Given the description of an element on the screen output the (x, y) to click on. 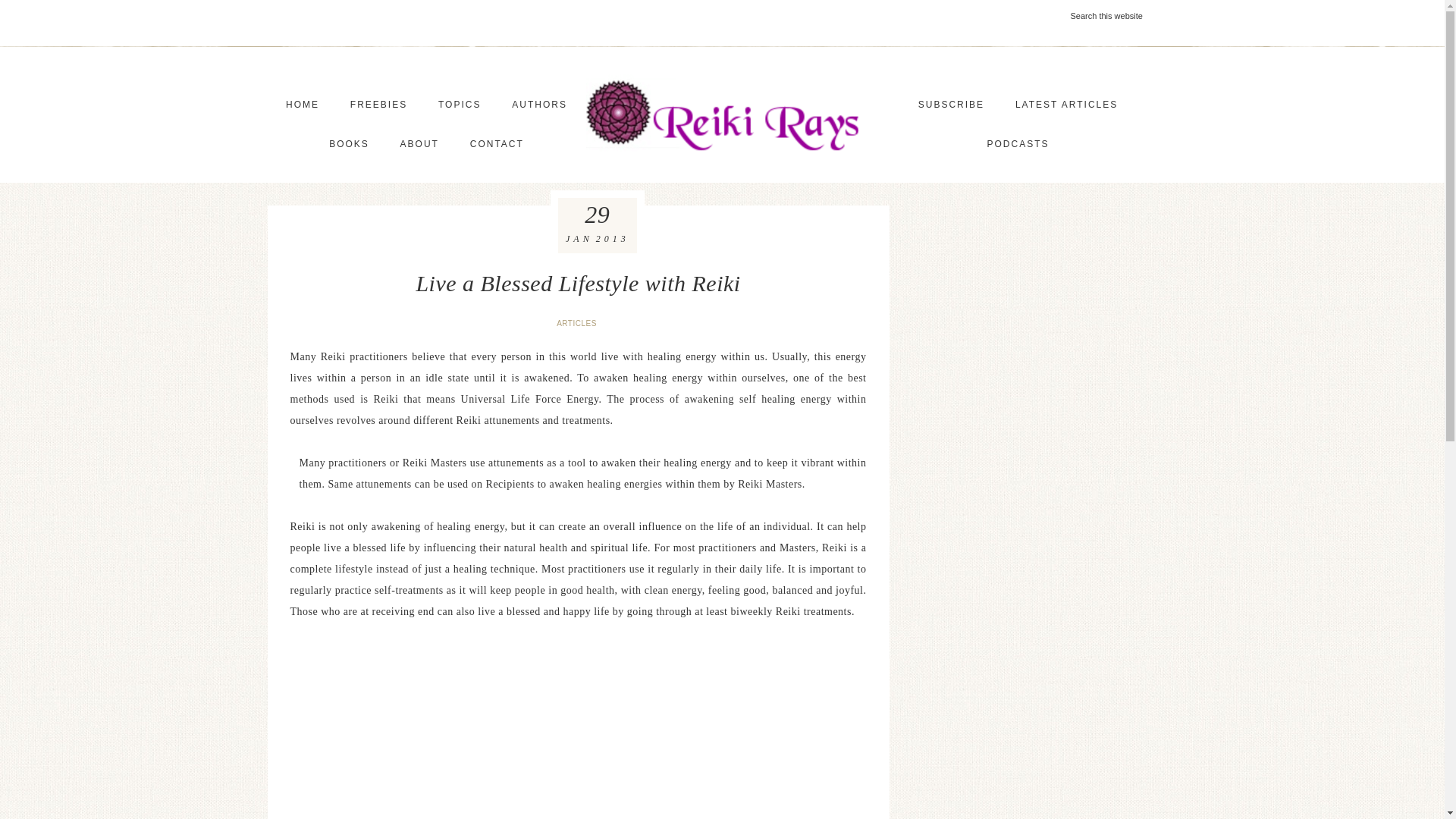
SUBSCRIBE (950, 104)
HOME (302, 104)
AUTHORS (538, 104)
LATEST ARTICLES (1066, 104)
FREEBIES (378, 104)
ABOUT (419, 143)
PODCASTS (1017, 143)
TOPICS (460, 104)
ARTICLES (577, 323)
BOOKS (348, 143)
